Given the description of an element on the screen output the (x, y) to click on. 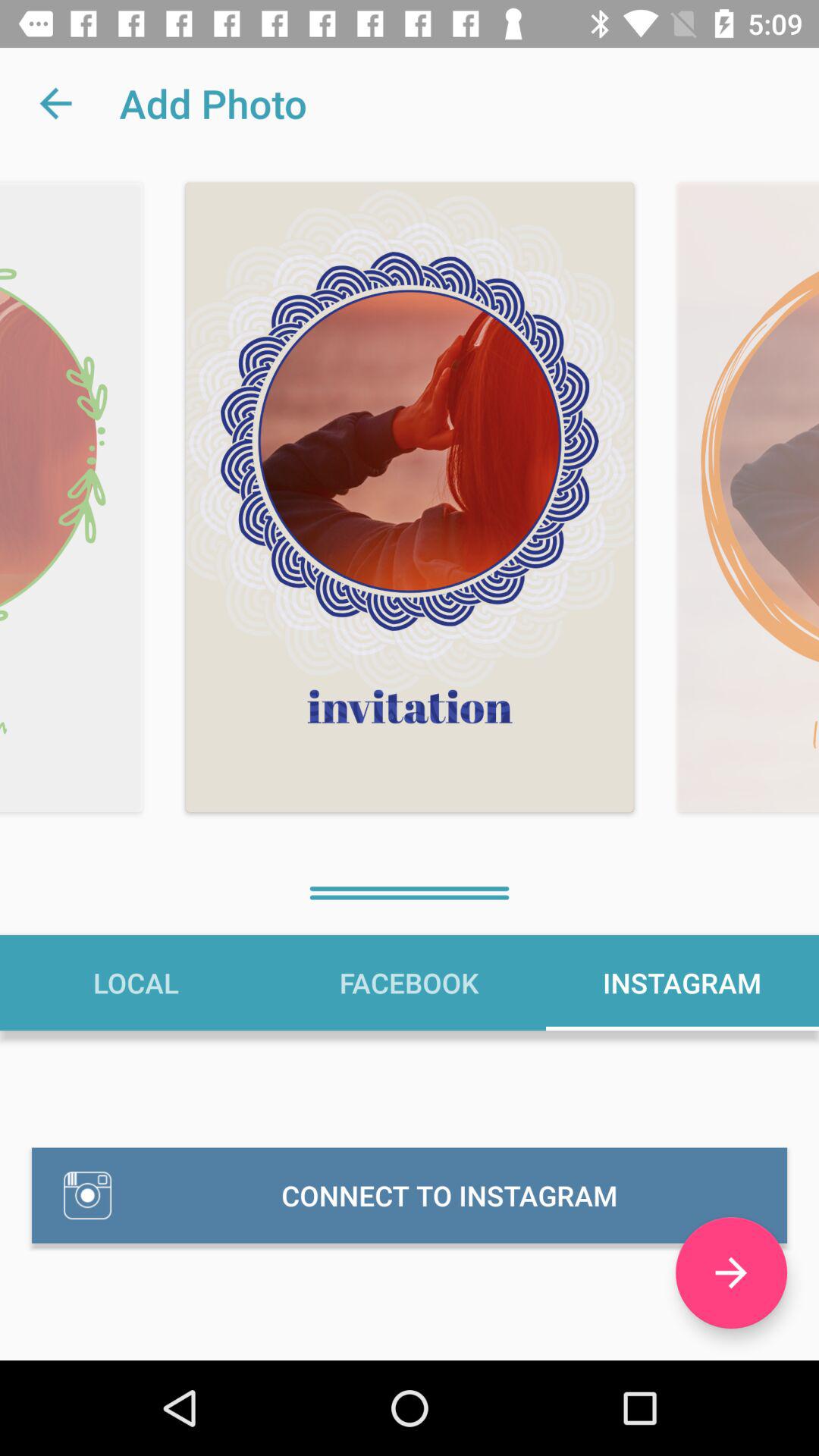
press the item below local item (409, 1195)
